Given the description of an element on the screen output the (x, y) to click on. 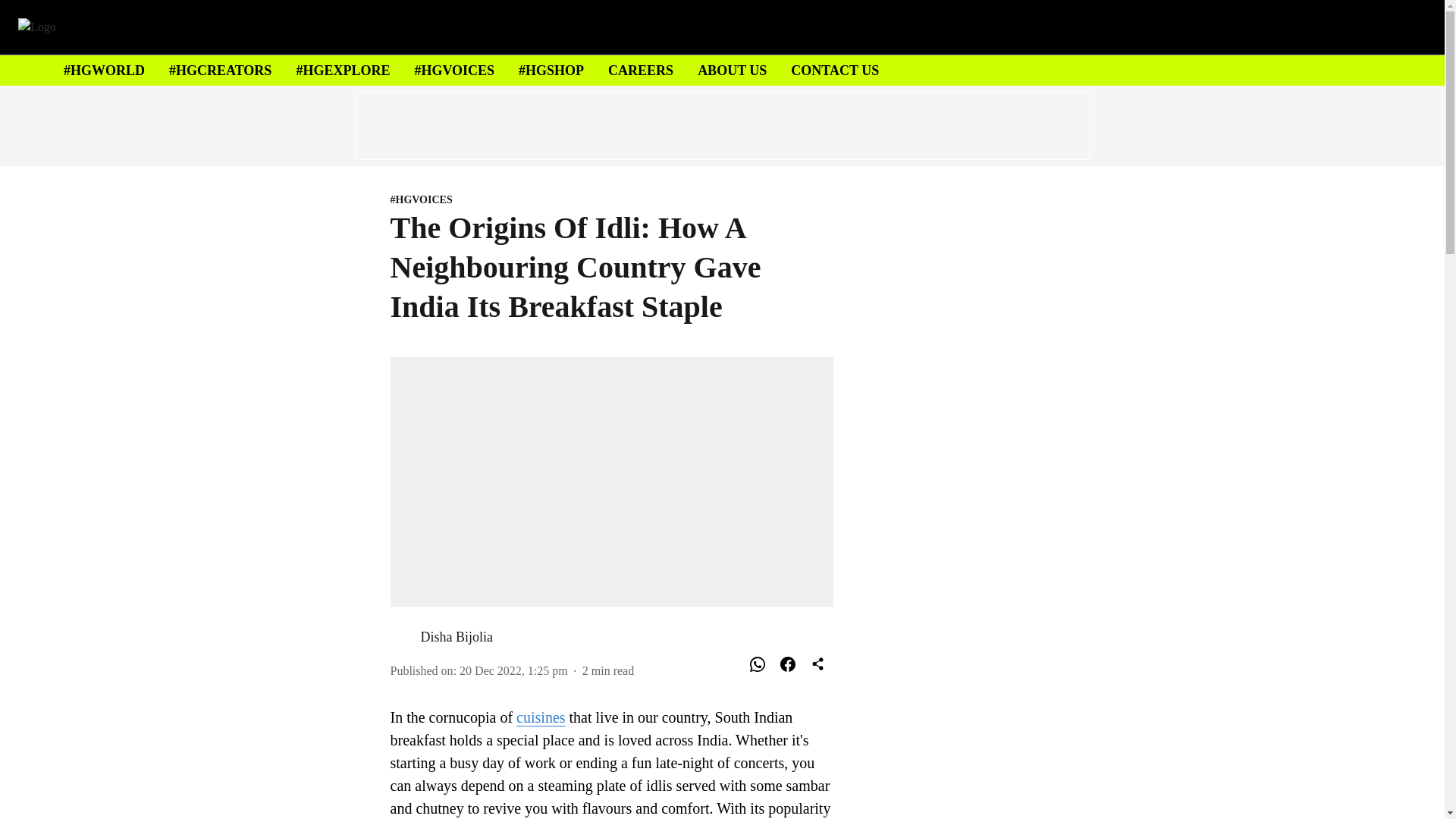
CONTACT US (834, 70)
2022-12-20 13:25 (513, 670)
CAREERS (640, 70)
Disha Bijolia (456, 636)
ABOUT US (732, 70)
